Given the description of an element on the screen output the (x, y) to click on. 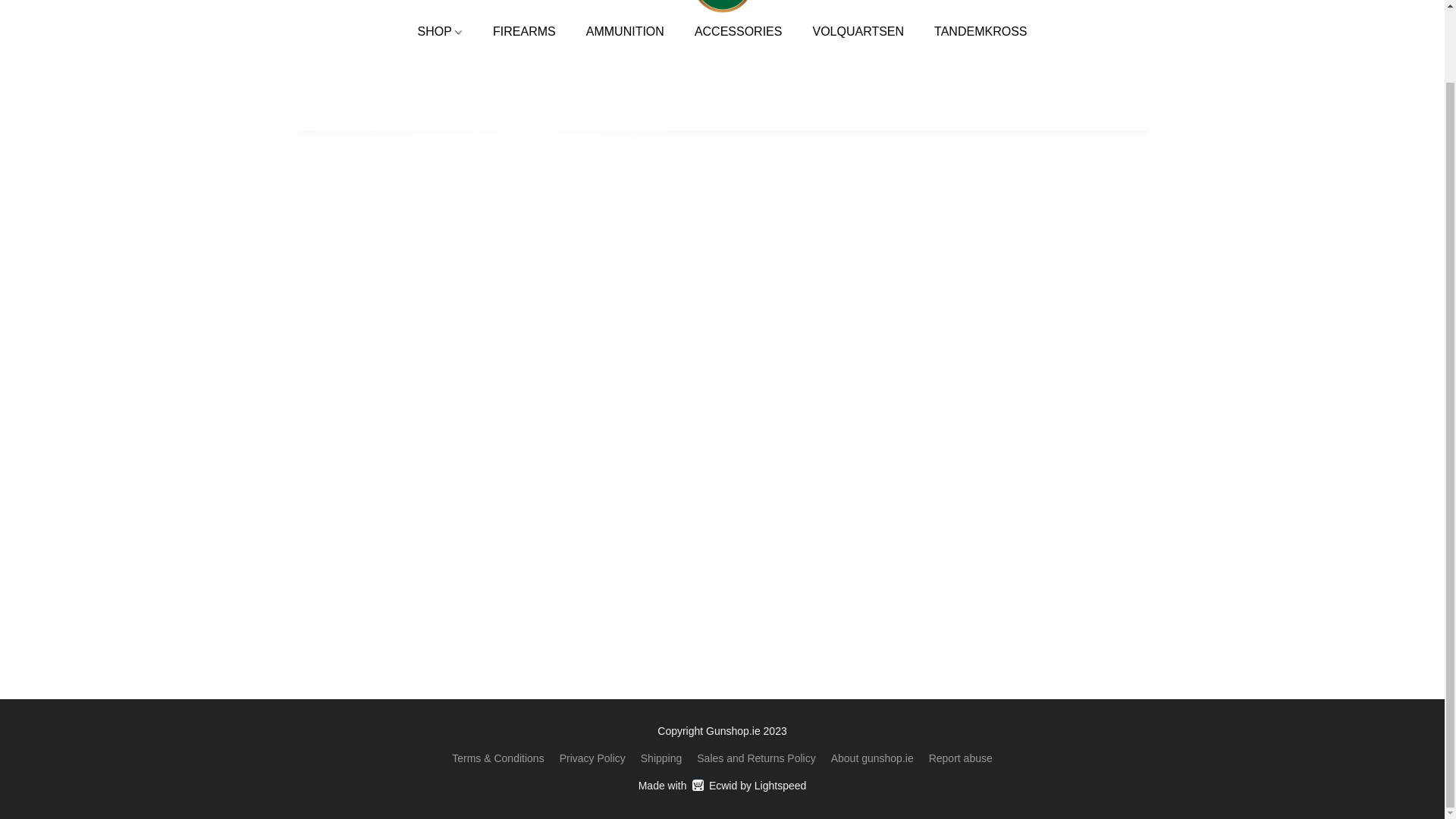
About gunshop.ie (872, 758)
Privacy Policy (592, 758)
ACCESSORIES (738, 31)
SHOP (448, 31)
TANDEMKROSS (972, 31)
AMMUNITION (722, 785)
VOLQUARTSEN (624, 31)
Report abuse (857, 31)
Sales and Returns Policy (960, 758)
